Given the description of an element on the screen output the (x, y) to click on. 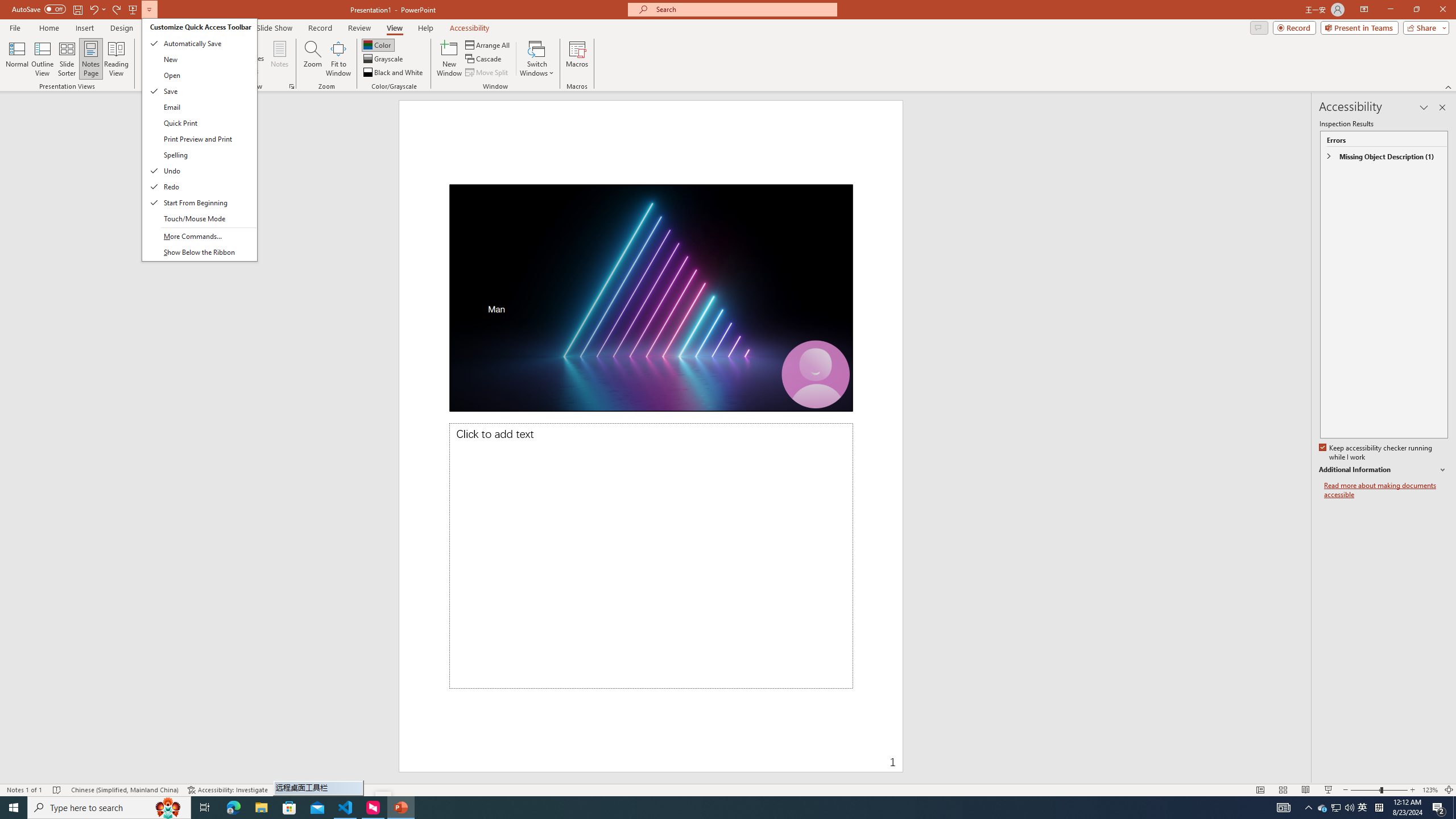
Switch Windows (537, 58)
Macros (576, 58)
Notes Page (90, 58)
Move Split (487, 72)
Slide Notes (651, 555)
